Given the description of an element on the screen output the (x, y) to click on. 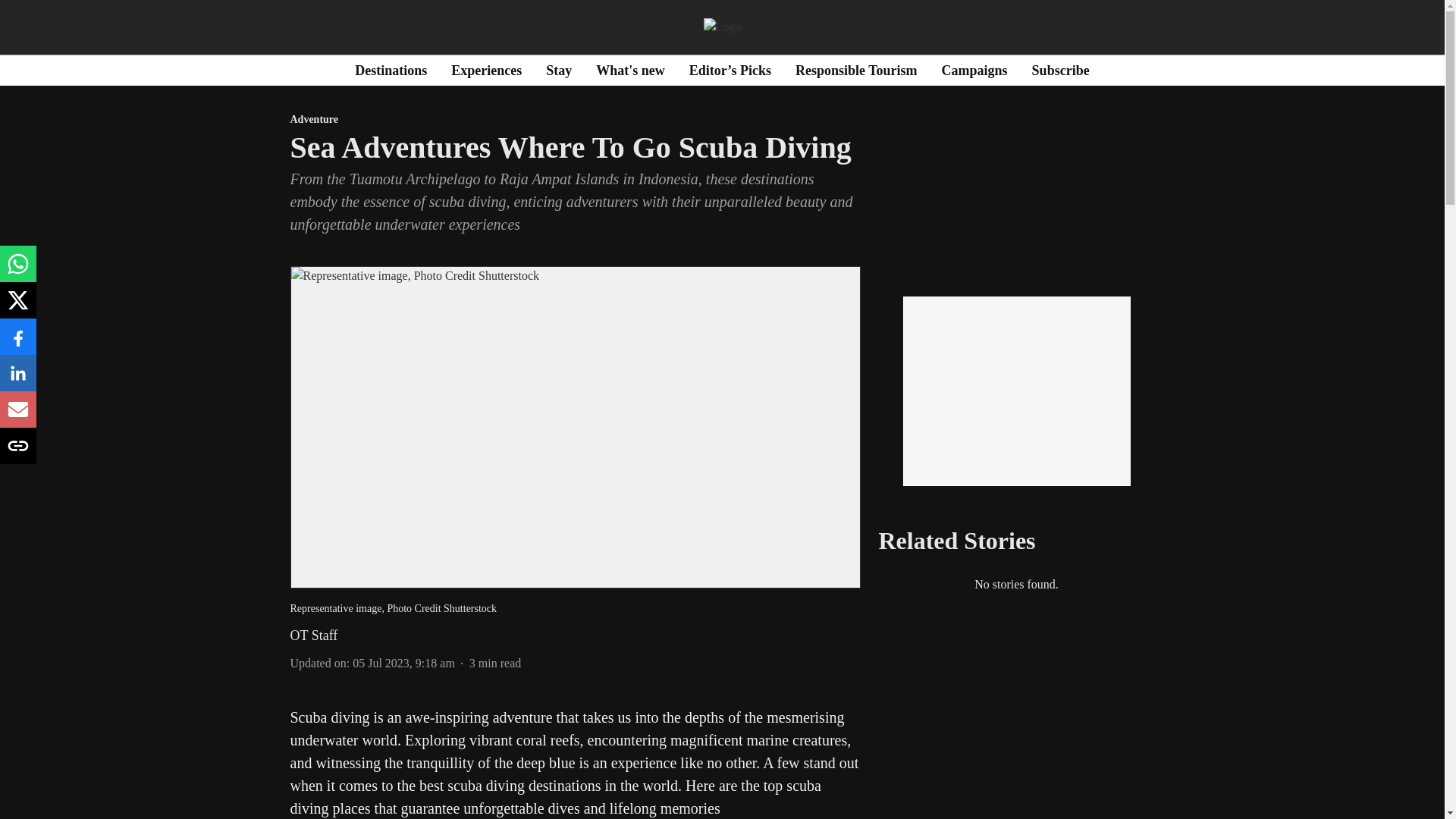
Experiences (486, 70)
Adventure (574, 119)
Responsible Tourism (855, 70)
What's new (630, 70)
OT Staff (313, 635)
Stay (559, 70)
Subscribe (1060, 70)
Destinations (390, 70)
